Given the description of an element on the screen output the (x, y) to click on. 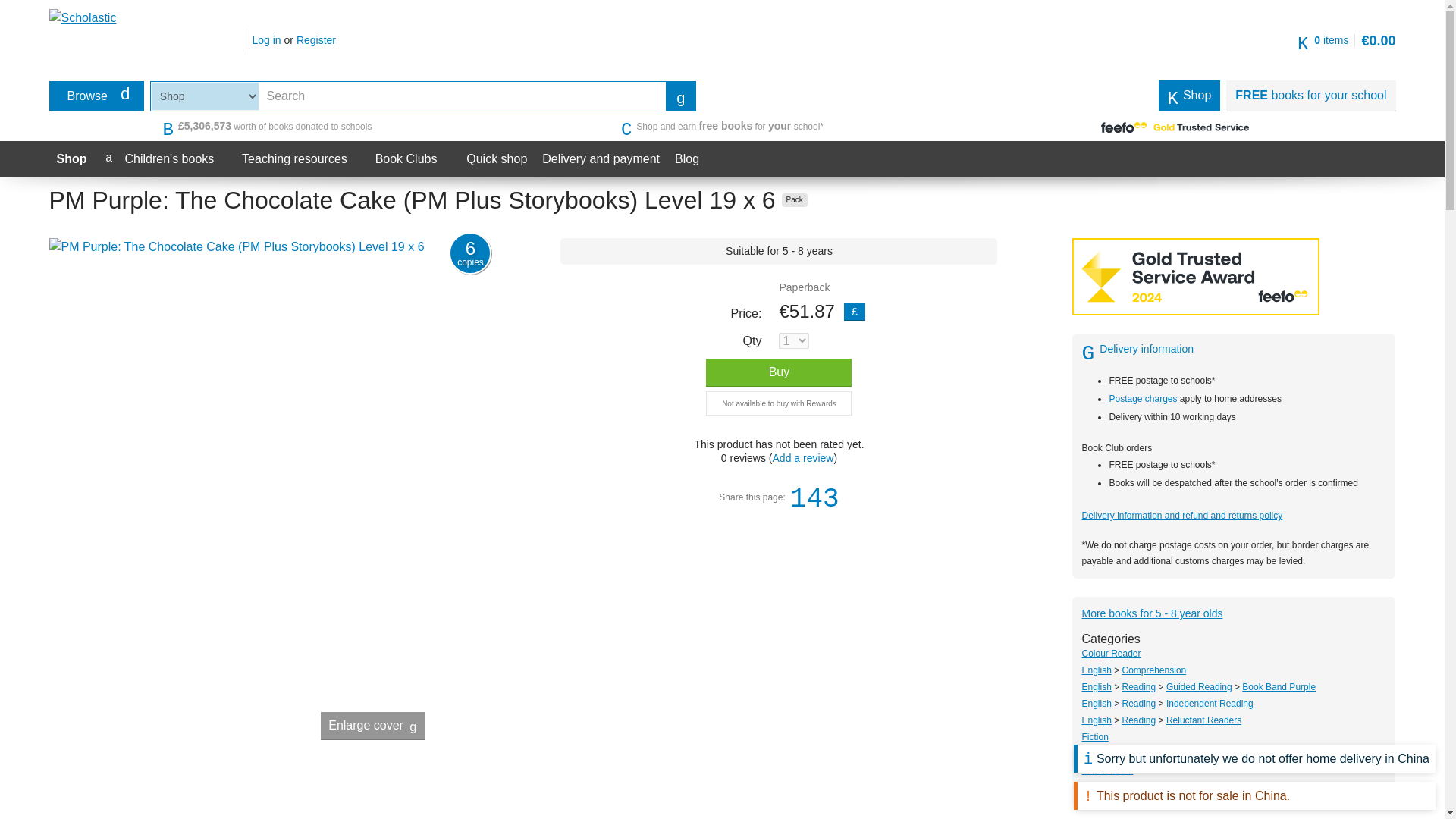
Shop (95, 96)
Shop (1189, 95)
View all Book packs (71, 158)
Register (794, 199)
Teaching resources (316, 39)
Quantity (302, 158)
Log in (751, 340)
Search (266, 39)
FREE books for your school (680, 96)
